Given the description of an element on the screen output the (x, y) to click on. 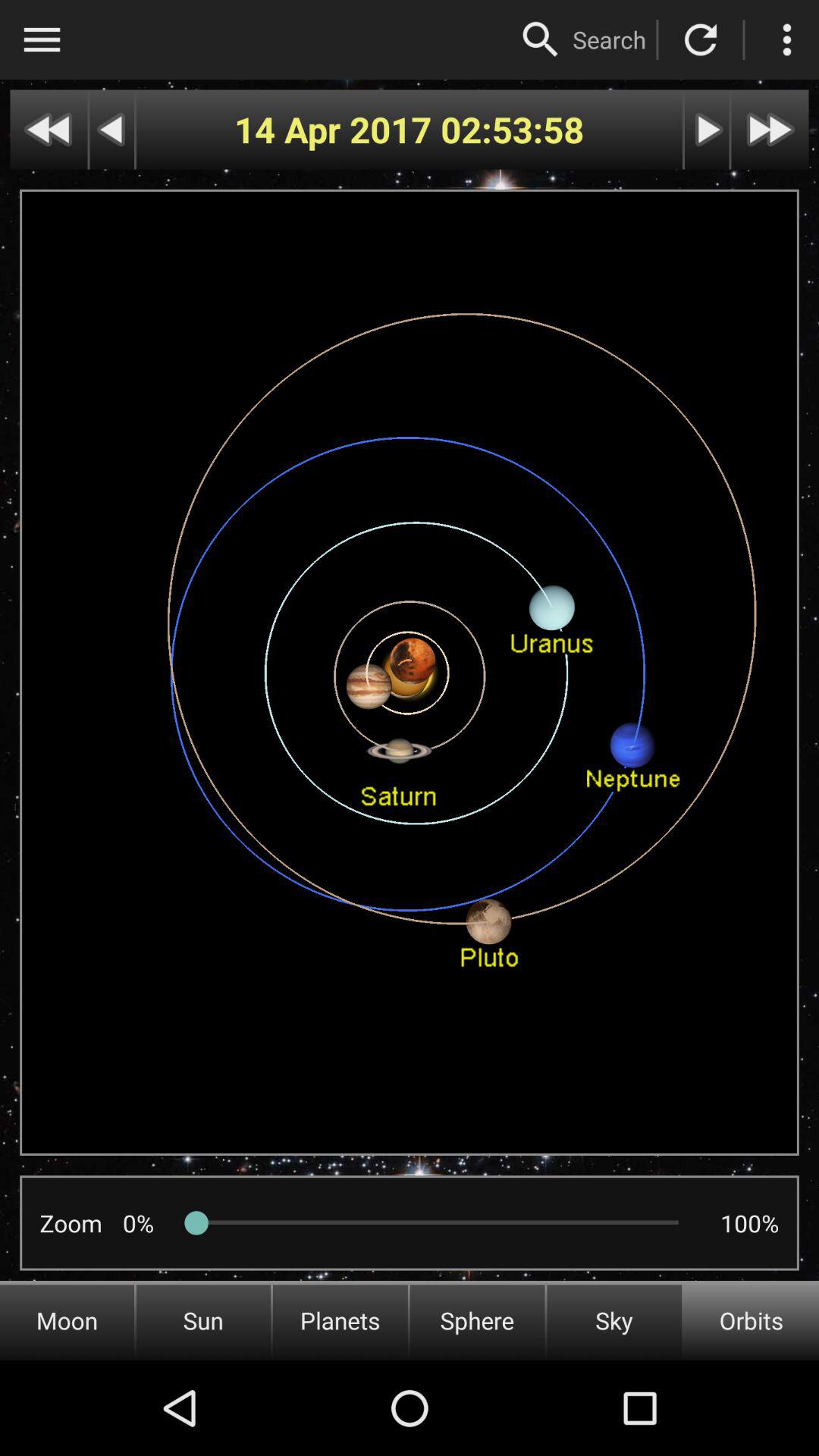
view more options (787, 39)
